Given the description of an element on the screen output the (x, y) to click on. 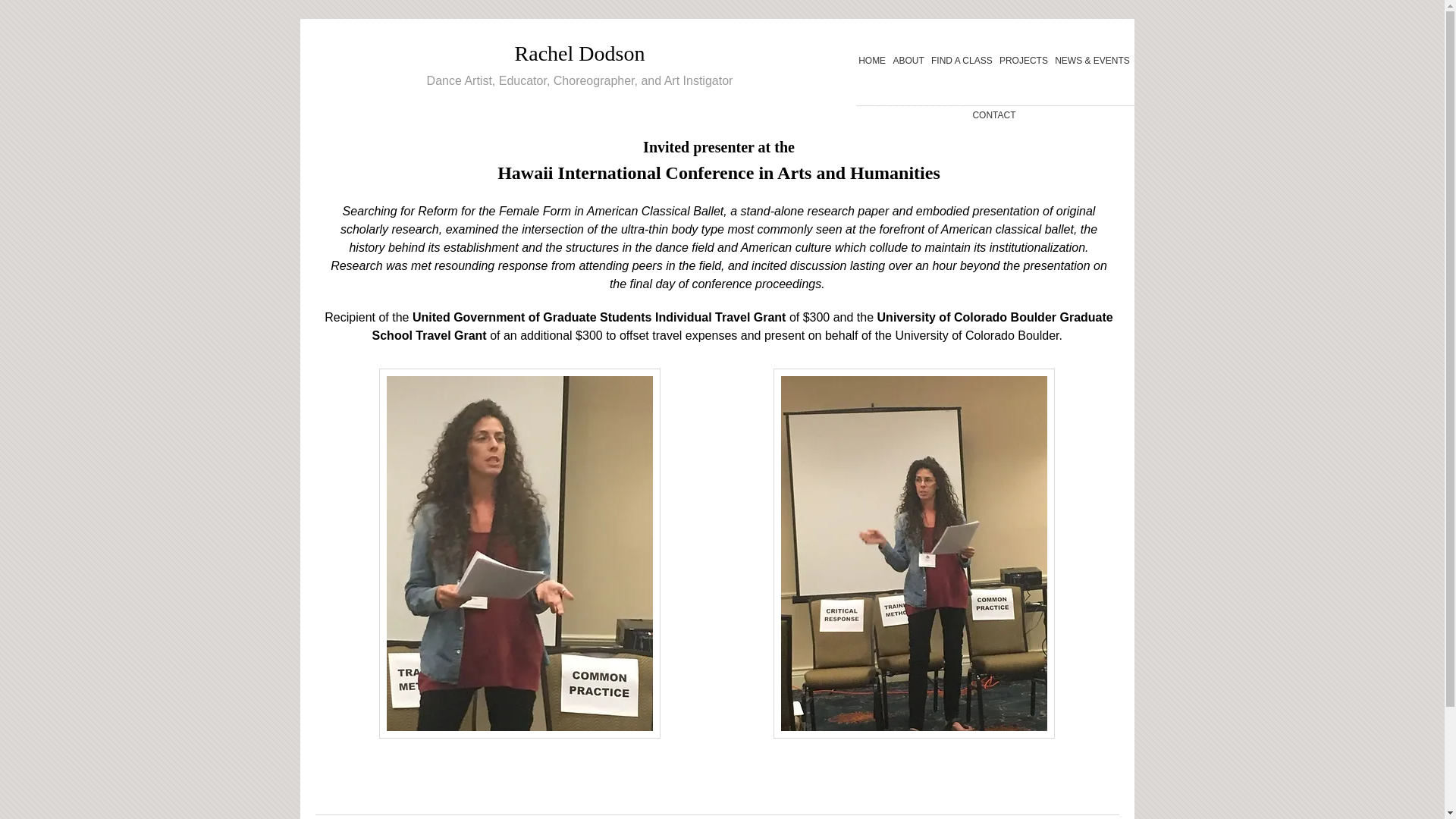
PROJECTS (1023, 60)
CONTACT (995, 114)
FIND A CLASS (961, 60)
